Given the description of an element on the screen output the (x, y) to click on. 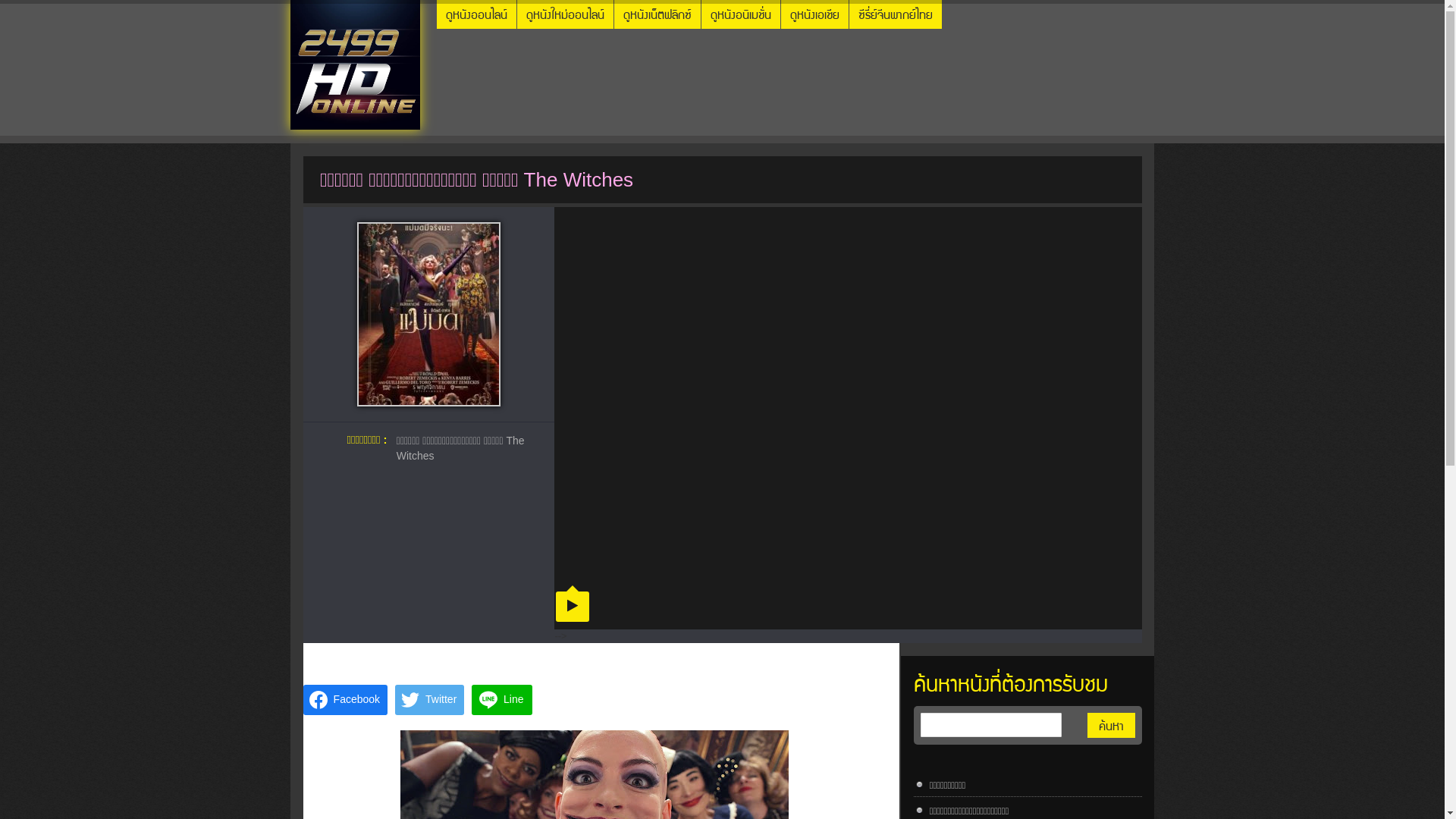
Twitter Element type: text (429, 699)
Facebook Element type: text (345, 699)
Line Element type: text (501, 699)
